Given the description of an element on the screen output the (x, y) to click on. 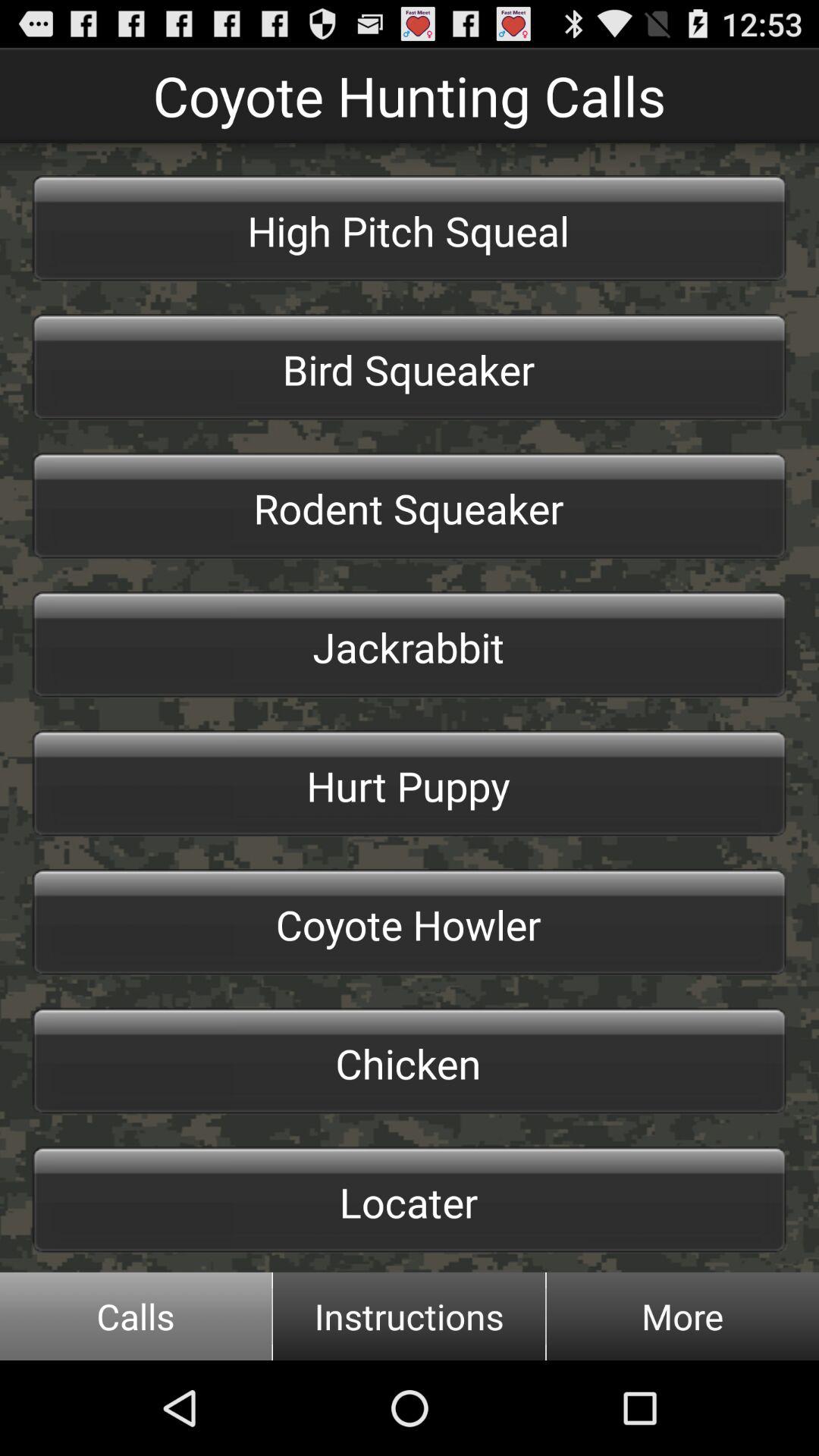
select the icon above jackrabbit (409, 505)
